Given the description of an element on the screen output the (x, y) to click on. 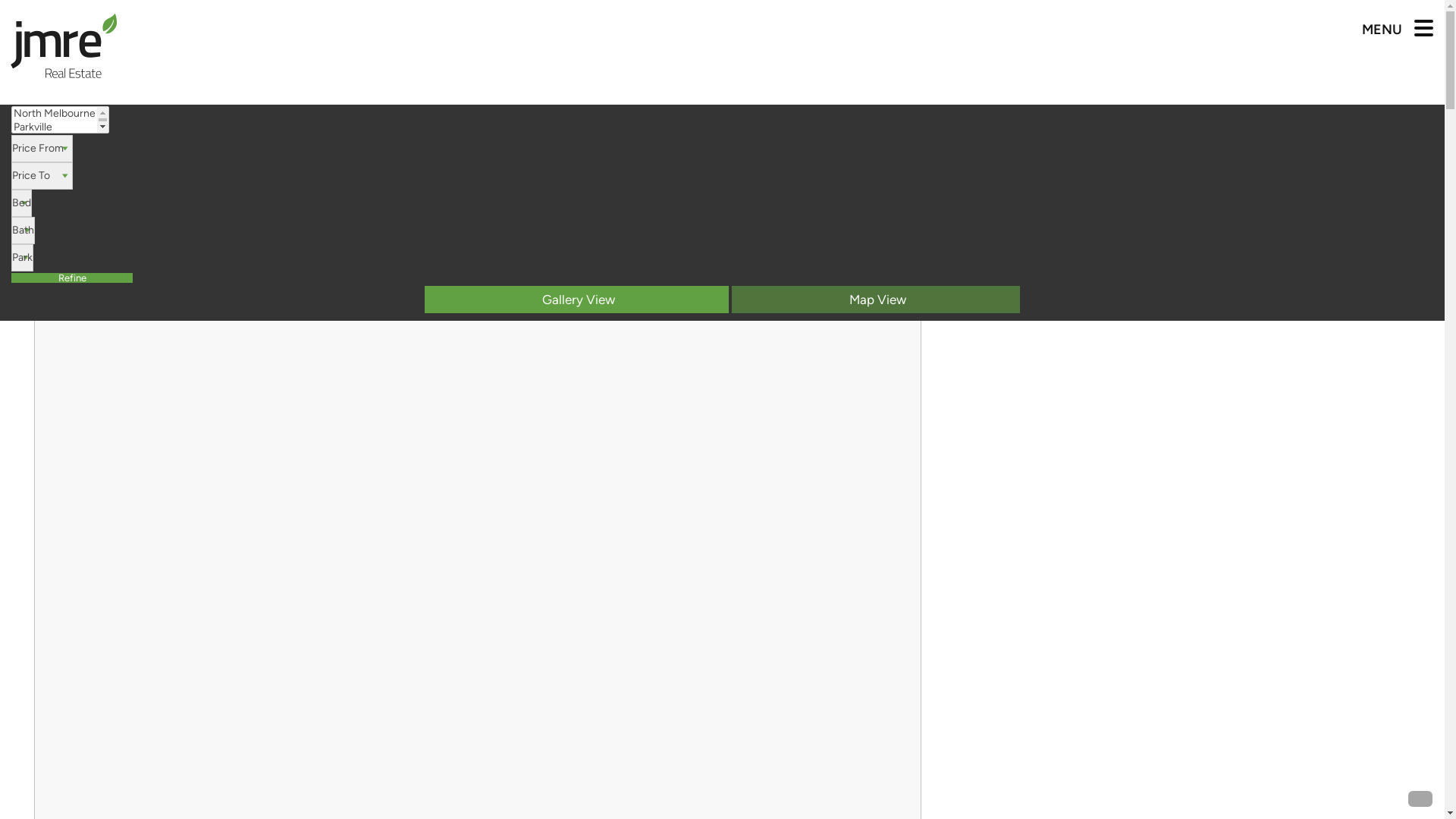
Add Favourites Element type: hover (907, 256)
Save Search Element type: hover (1402, 192)
Map View Element type: text (875, 299)
Gallery View Element type: text (576, 299)
Refine Element type: text (71, 277)
